Given the description of an element on the screen output the (x, y) to click on. 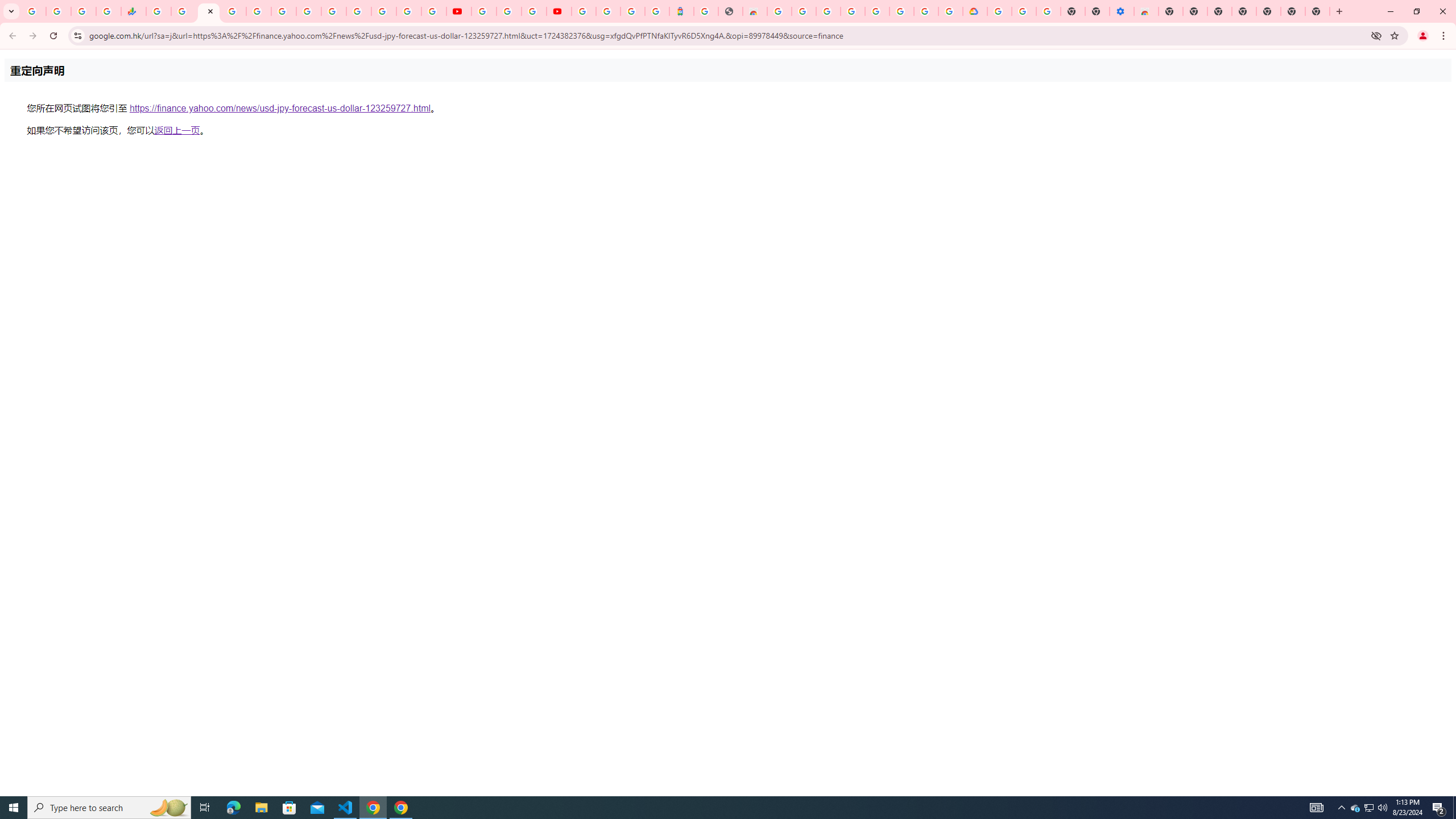
Content Creator Programs & Opportunities - YouTube Creators (558, 11)
Chrome Web Store - Accessibility extensions (1145, 11)
Turn cookies on or off - Computer - Google Account Help (1047, 11)
Atour Hotel - Google hotels (680, 11)
Google Workspace Admin Community (33, 11)
Google Account Help (876, 11)
Google Account Help (1023, 11)
Sign in - Google Accounts (358, 11)
Create your Google Account (533, 11)
Sign in - Google Accounts (608, 11)
